Given the description of an element on the screen output the (x, y) to click on. 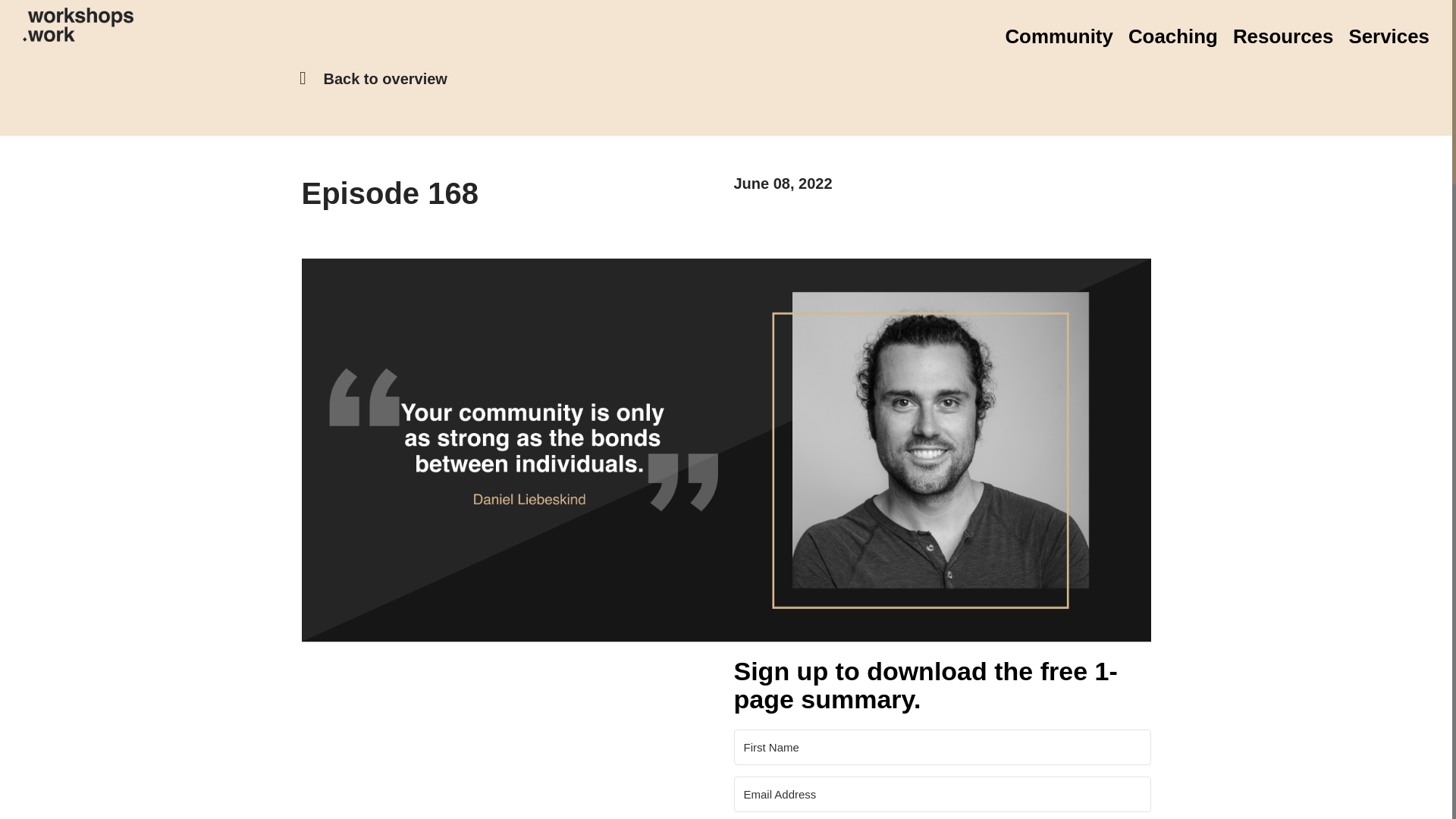
Community (1058, 36)
Resources (1275, 36)
Back to overview (384, 78)
Services (1381, 36)
Coaching (1165, 36)
